Given the description of an element on the screen output the (x, y) to click on. 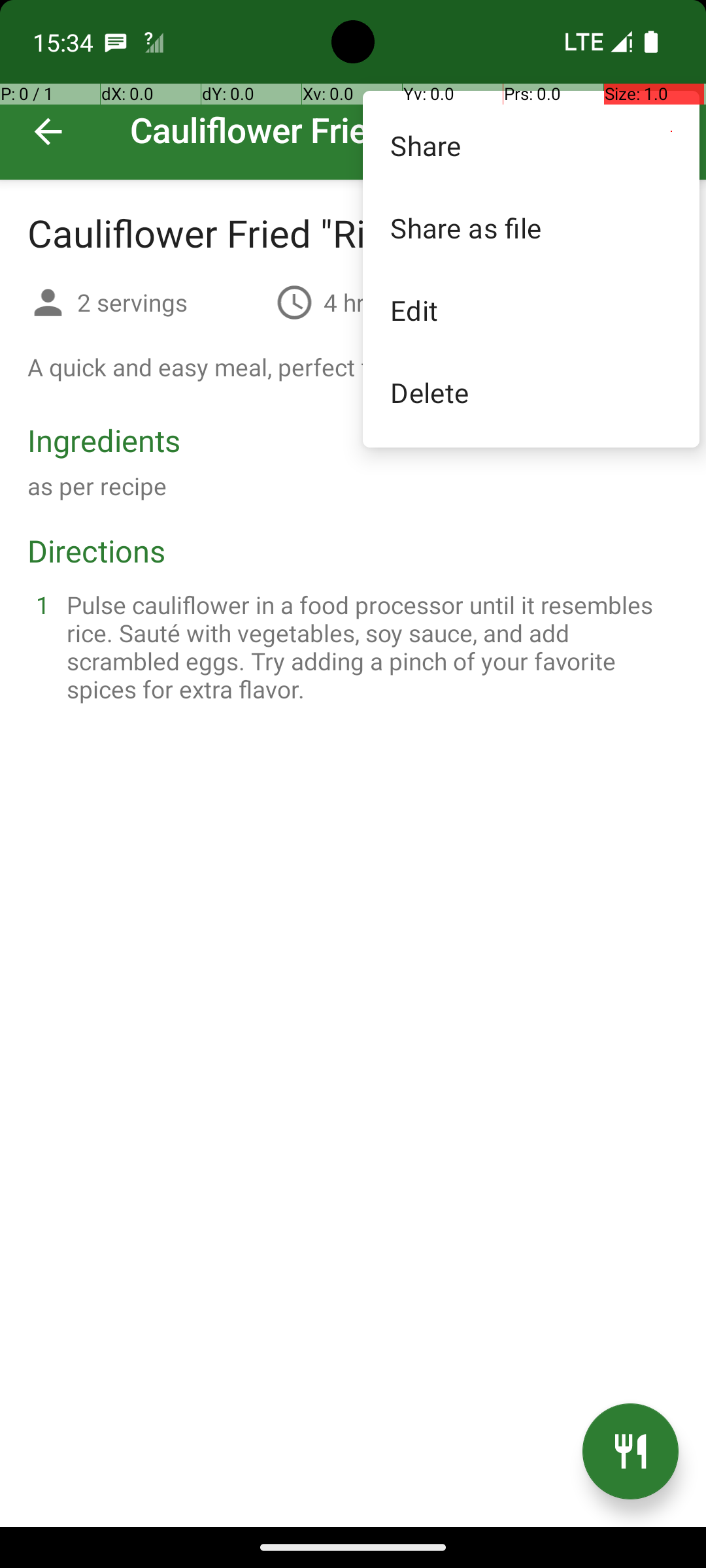
Share as file Element type: android.widget.TextView (531, 227)
